Given the description of an element on the screen output the (x, y) to click on. 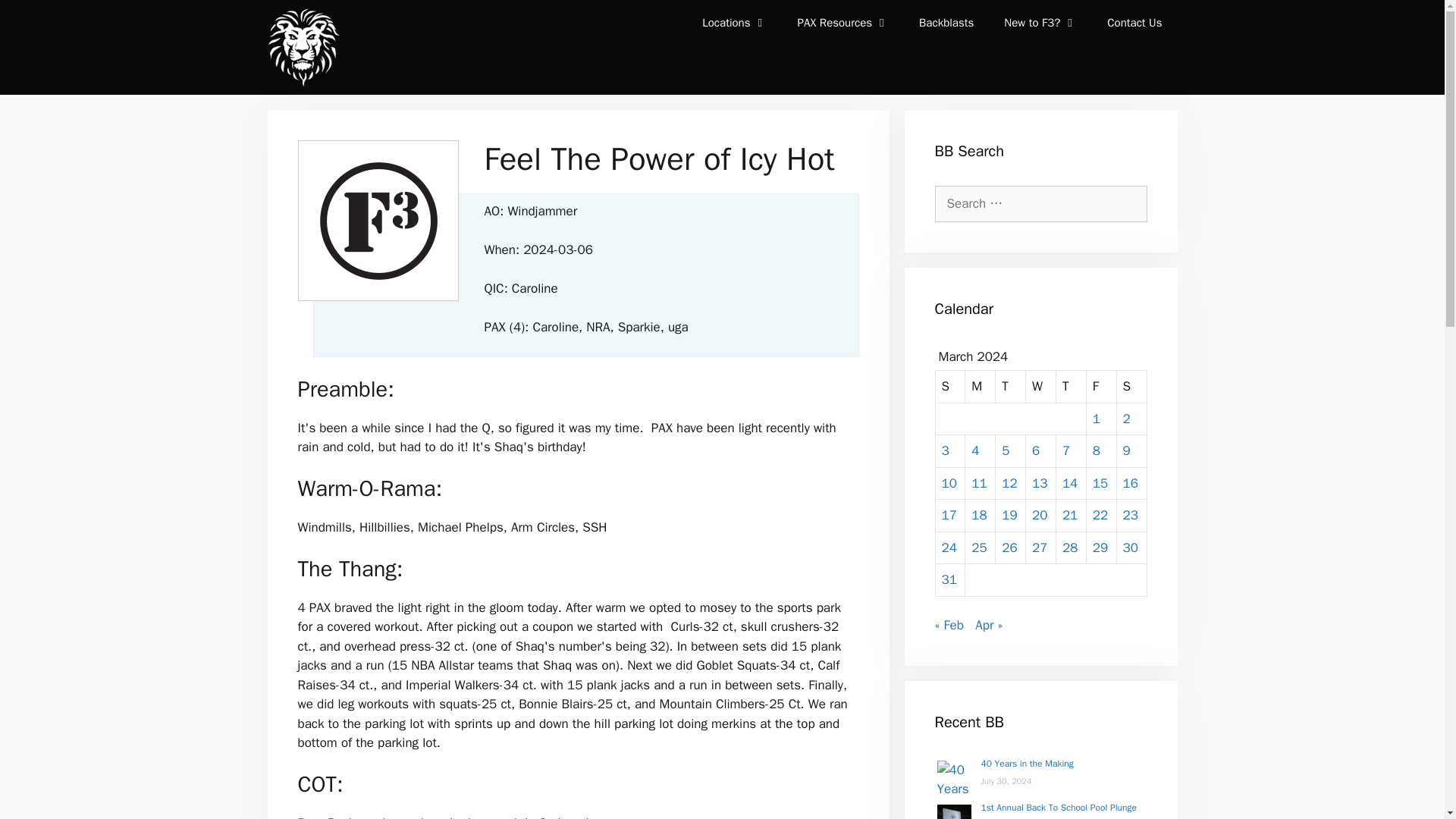
Contact Us (1134, 22)
Sunday (951, 387)
Saturday (1131, 387)
Monday (980, 387)
Search (33, 15)
F3Alpha (302, 47)
10 (949, 482)
Wednesday (1041, 387)
Friday (1101, 387)
PAX Resources (843, 22)
New to F3? (1040, 22)
Backblasts (946, 22)
11 (979, 482)
Locations (734, 22)
Search for: (1040, 203)
